Given the description of an element on the screen output the (x, y) to click on. 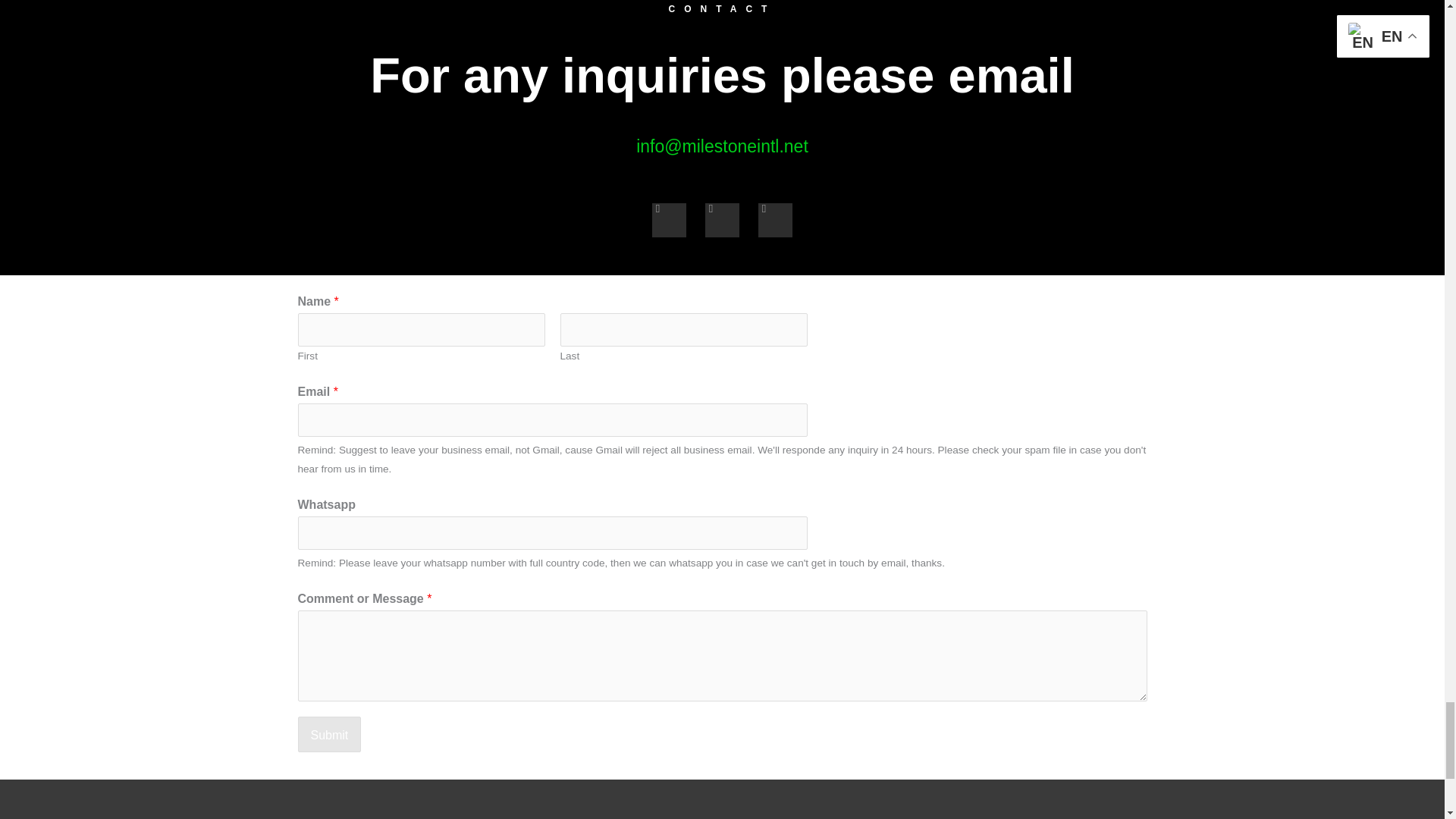
Submit (329, 734)
Linkedin (668, 220)
Youtube (775, 220)
Facebook-f (721, 220)
